Given the description of an element on the screen output the (x, y) to click on. 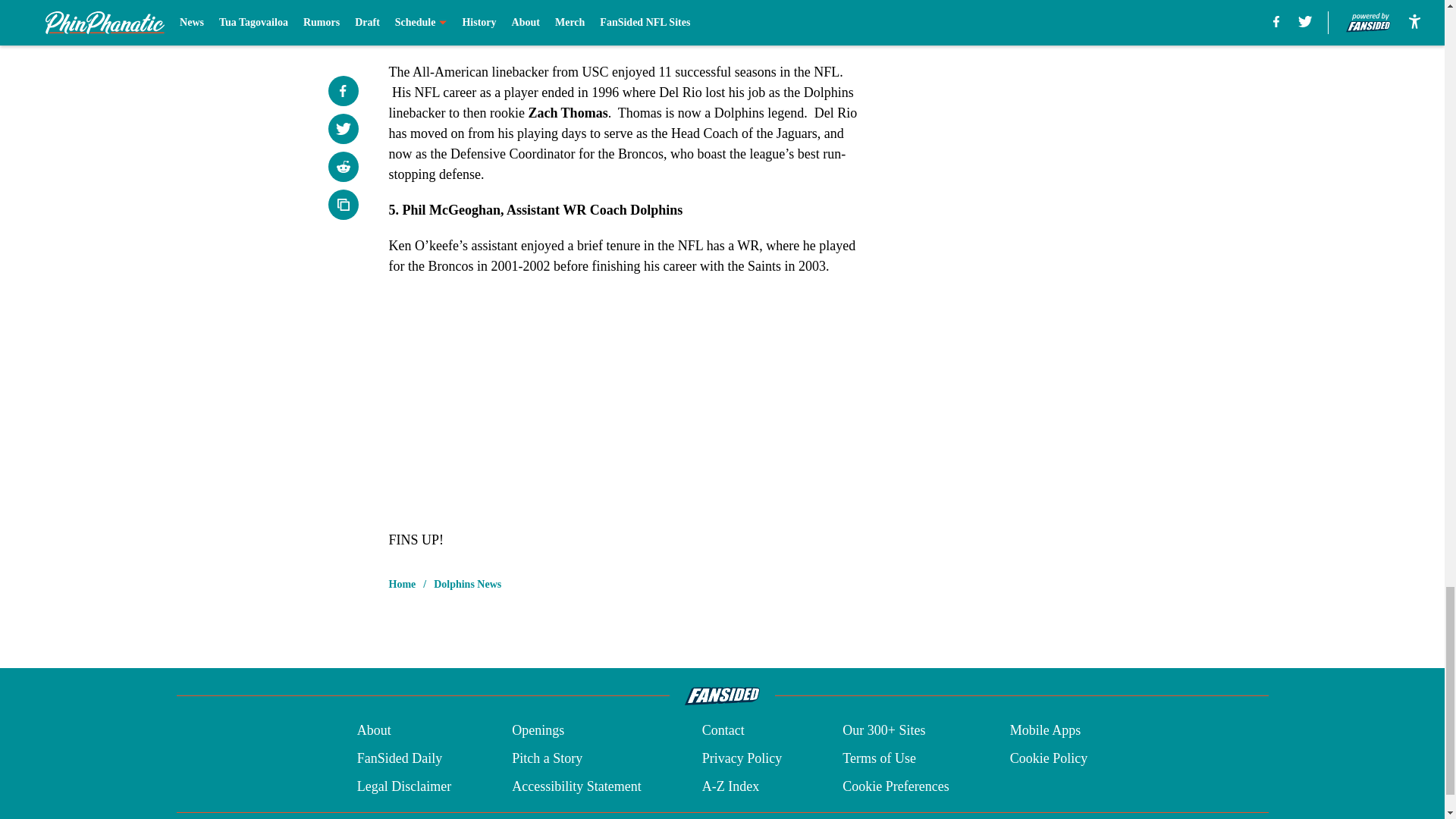
Contact (722, 730)
Legal Disclaimer (403, 786)
About (373, 730)
Pitch a Story (547, 758)
Home (401, 584)
FanSided Daily (399, 758)
A-Z Index (729, 786)
Dolphins News (466, 584)
Terms of Use (879, 758)
Accessibility Statement (576, 786)
